Given the description of an element on the screen output the (x, y) to click on. 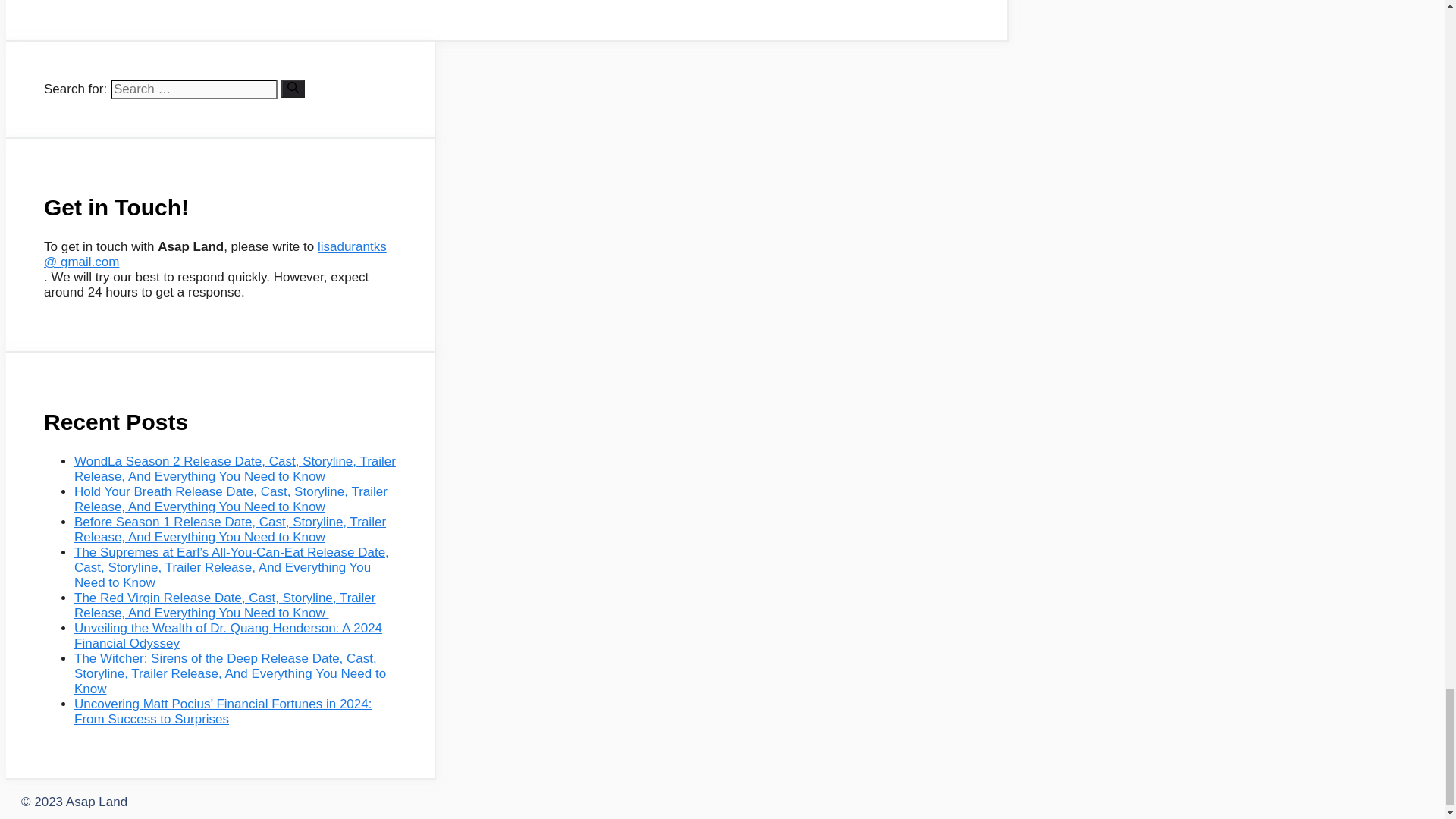
Search for: (194, 89)
